Given the description of an element on the screen output the (x, y) to click on. 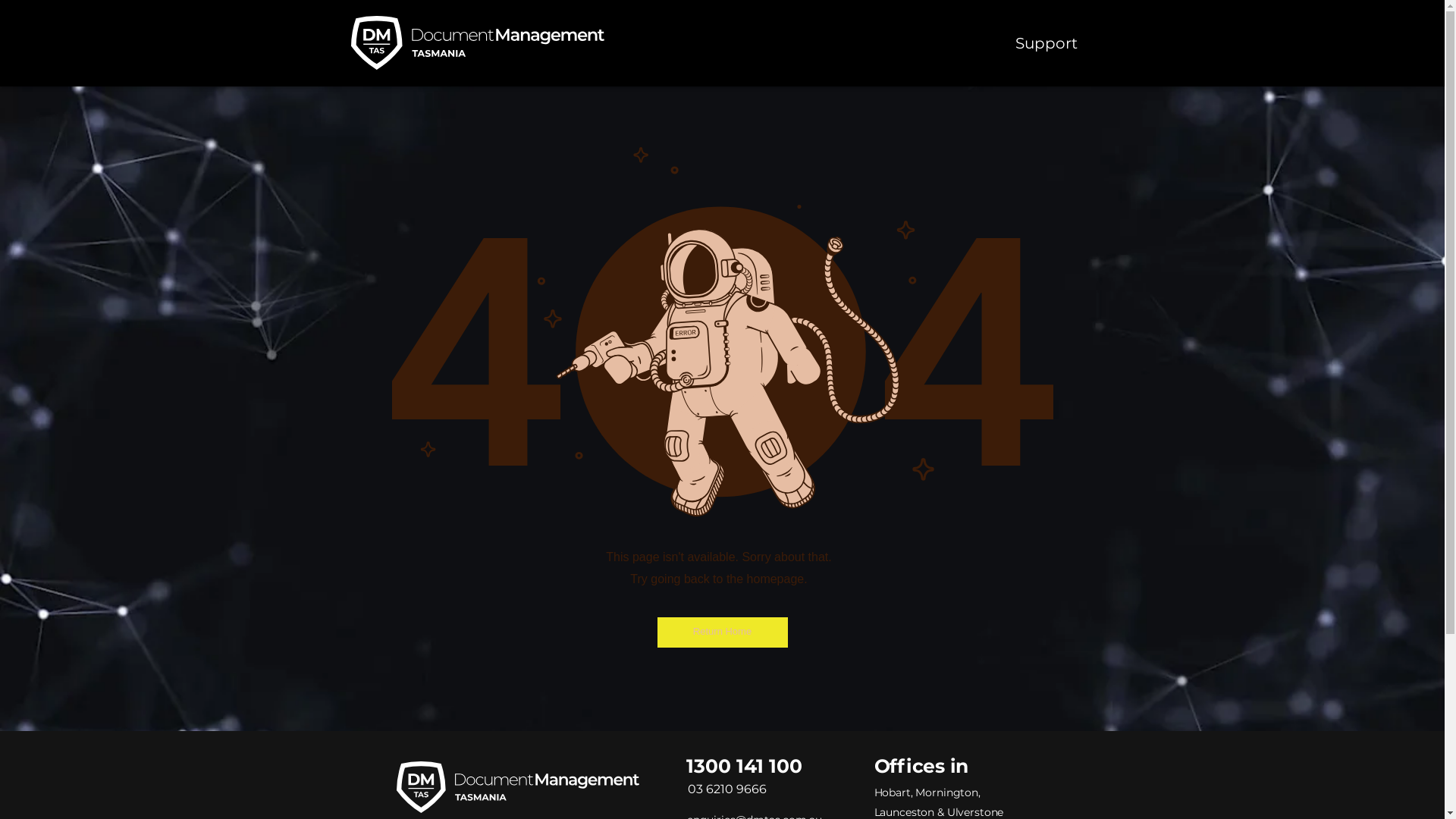
1300 141 100 Element type: text (743, 767)
Hobart,  Element type: text (894, 792)
Support Element type: text (1045, 42)
03 6210 9666 Element type: text (726, 788)
Offices in Element type: text (920, 765)
Return Home Element type: text (721, 632)
